Given the description of an element on the screen output the (x, y) to click on. 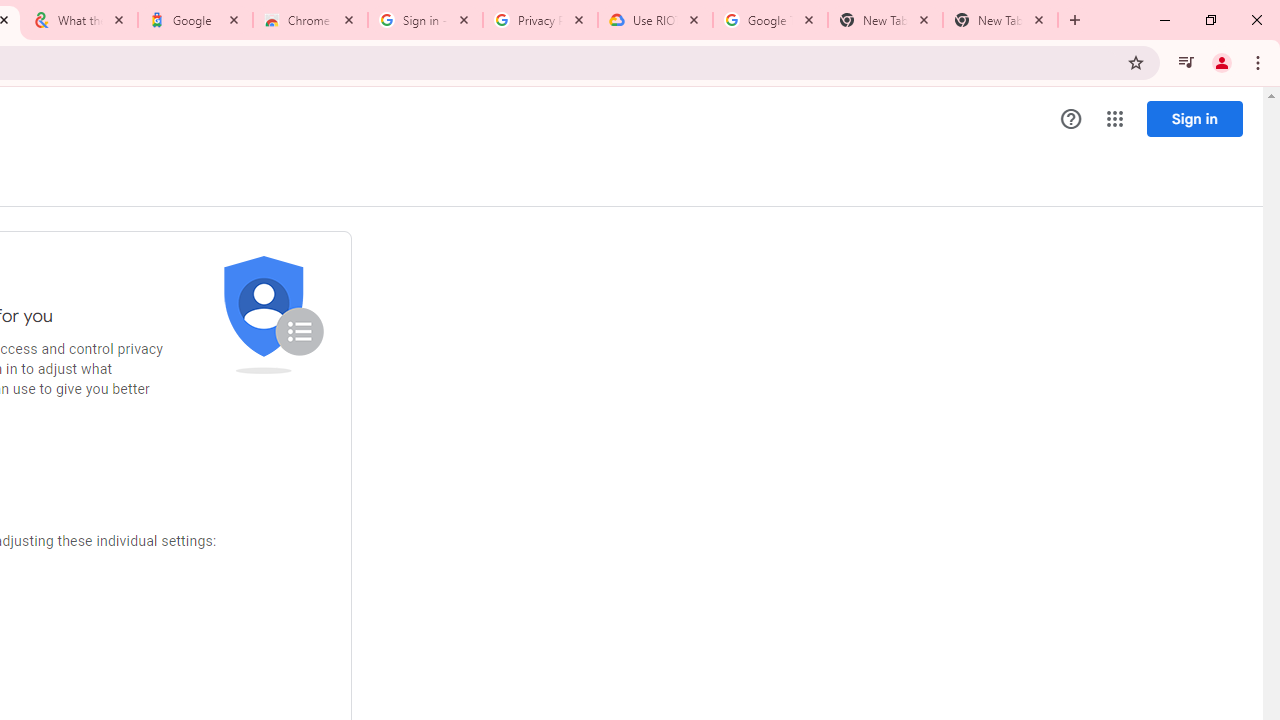
Google (195, 20)
Google apps (1114, 118)
Help (1071, 119)
